Given the description of an element on the screen output the (x, y) to click on. 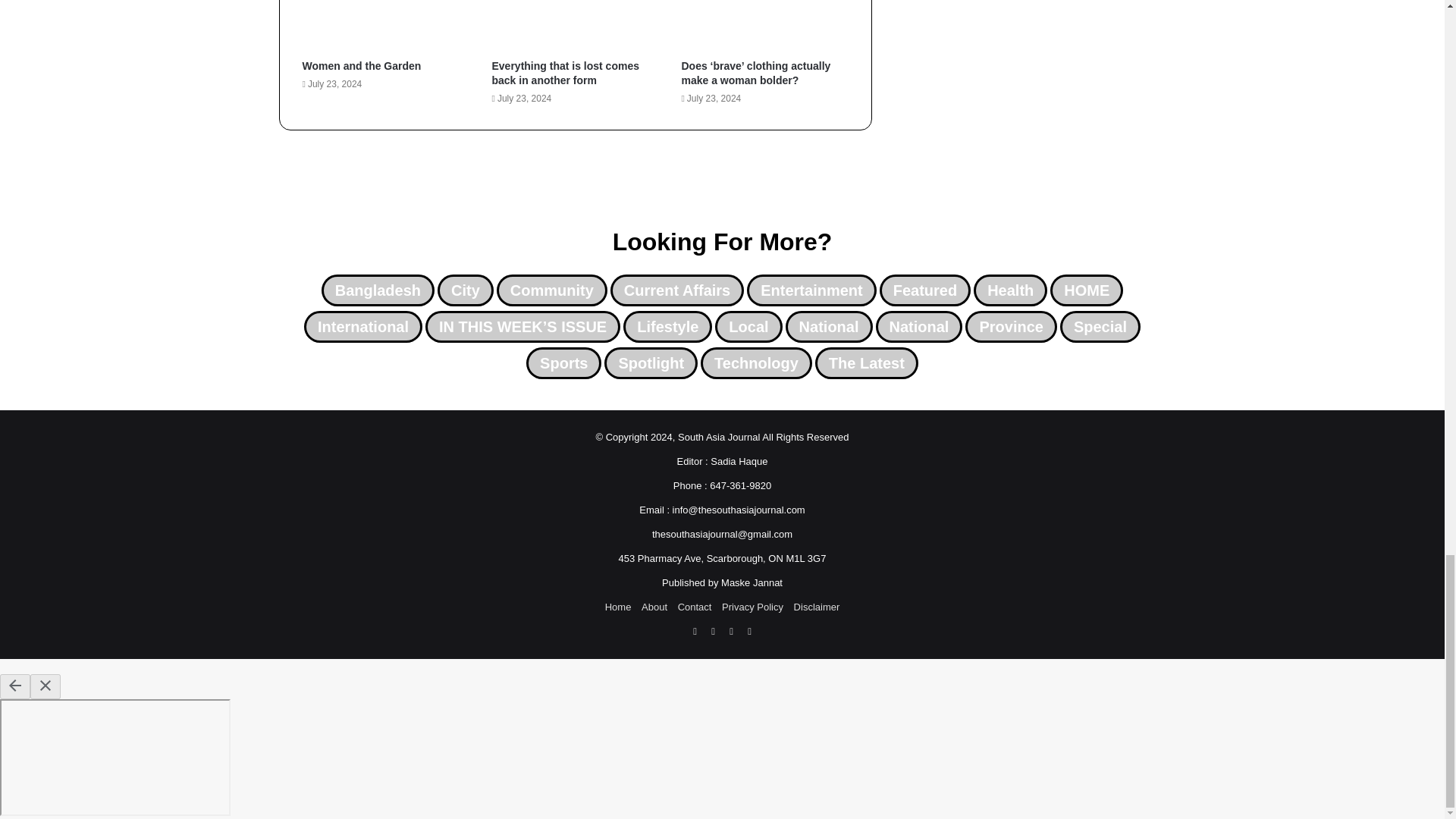
Everything that is lost comes back in another form (565, 72)
Women and the Garden (360, 65)
